Given the description of an element on the screen output the (x, y) to click on. 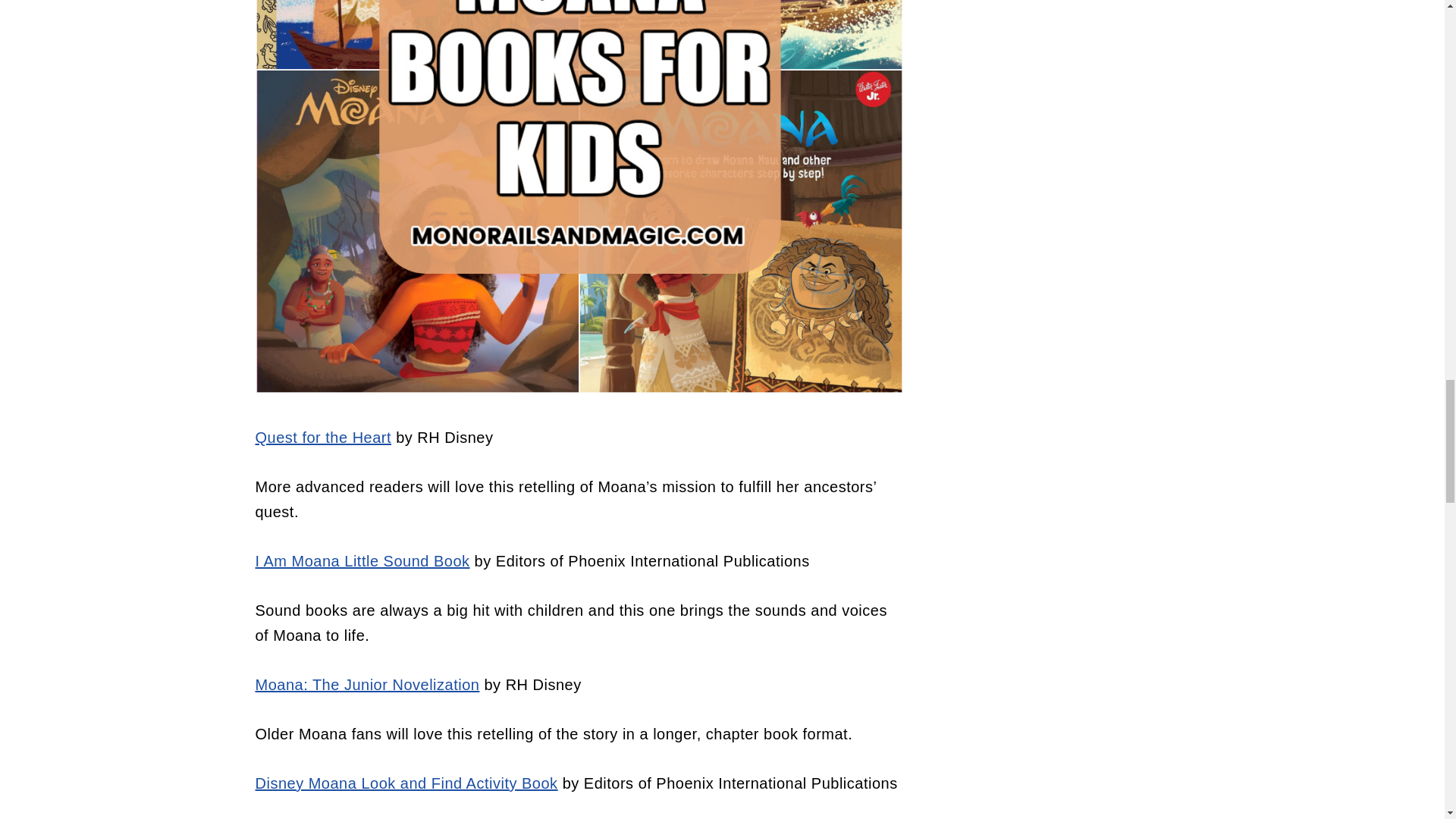
I Am Moana Little Sound Book (361, 560)
Moana: The Junior Novelization (366, 684)
Disney Moana Look and Find Activity Book (405, 782)
Quest for the Heart (322, 437)
